Given the description of an element on the screen output the (x, y) to click on. 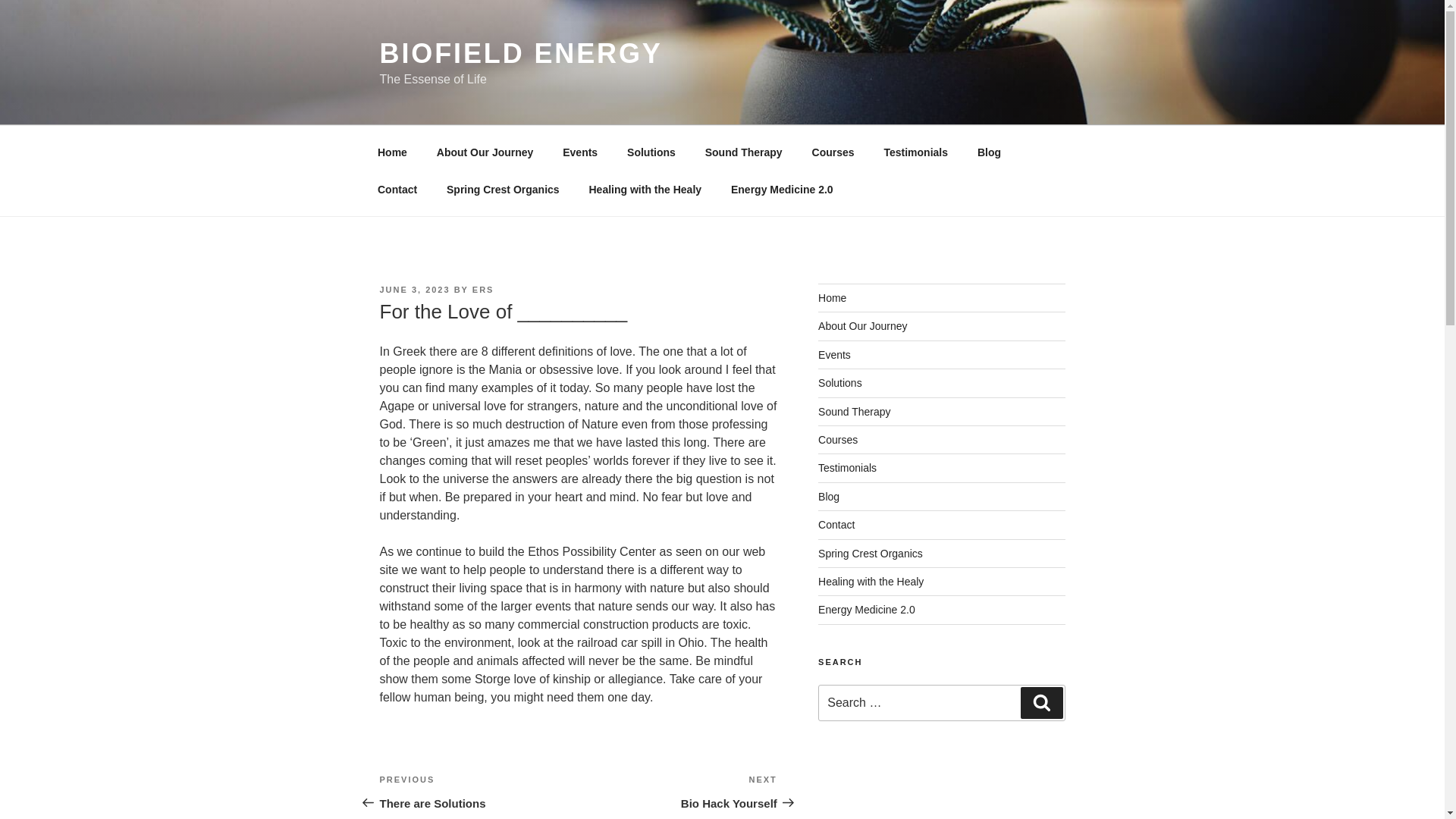
About Our Journey (485, 151)
Events (834, 354)
Blog (988, 151)
Solutions (839, 382)
Home (392, 151)
Testimonials (915, 151)
Healing with the Healy (644, 189)
Healing with the Healy (870, 581)
JUNE 3, 2023 (413, 289)
Home (831, 297)
Solutions (651, 151)
Spring Crest Organics (503, 189)
Spring Crest Organics (870, 553)
Events (580, 151)
Search (1041, 703)
